Given the description of an element on the screen output the (x, y) to click on. 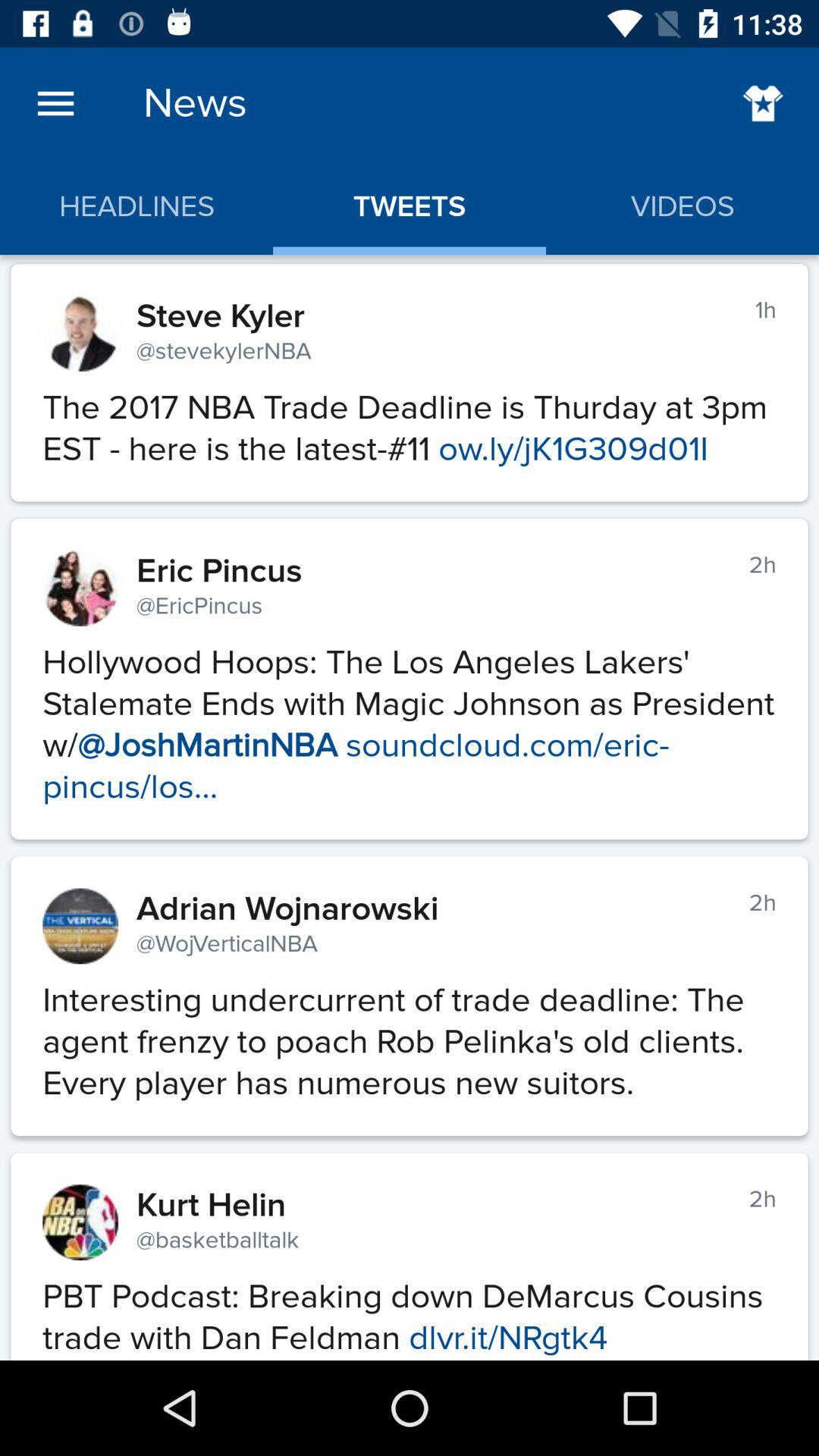
turn off the hollywood hoops the (409, 716)
